Given the description of an element on the screen output the (x, y) to click on. 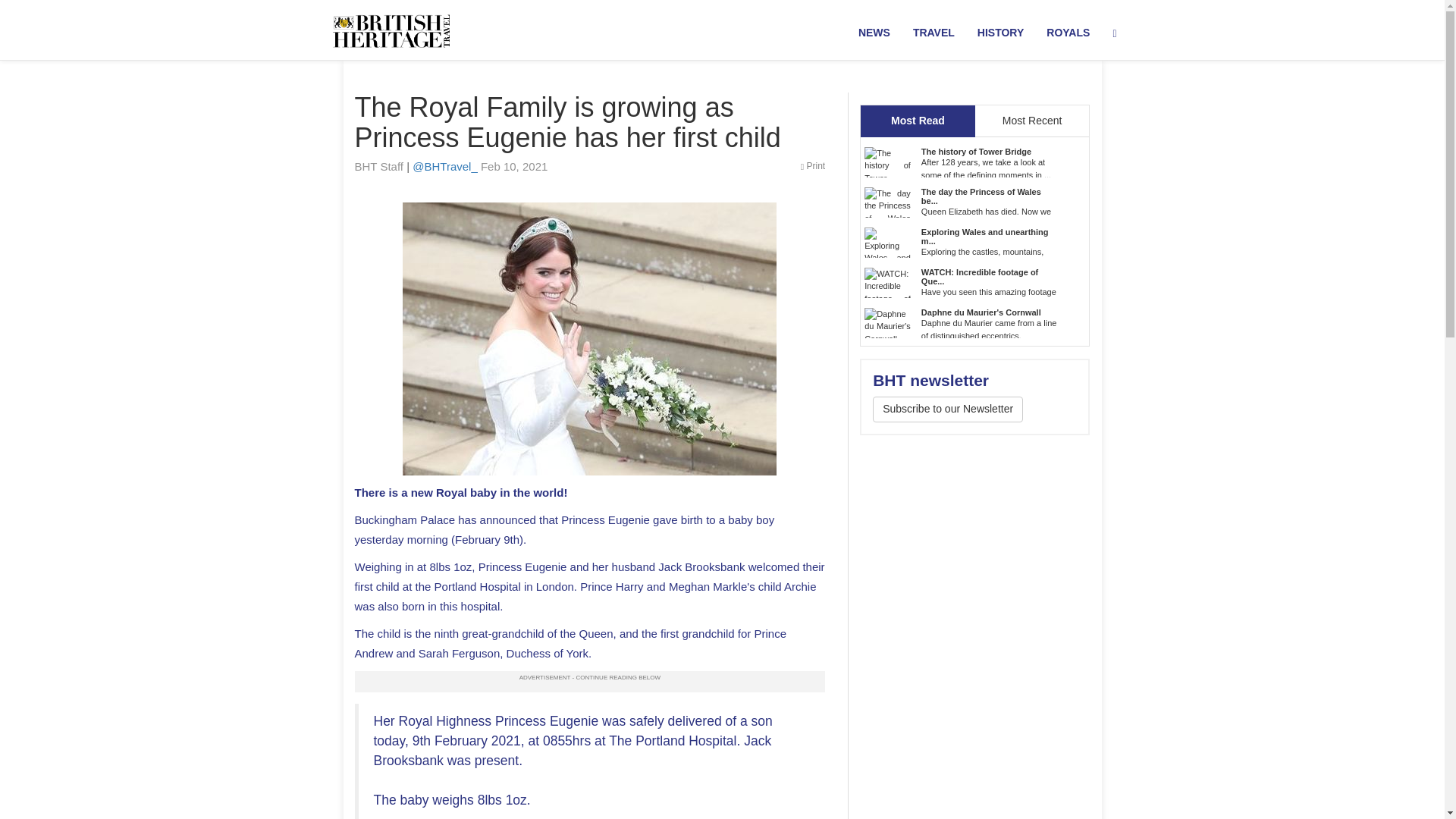
TRAVEL (933, 32)
Most Read (917, 121)
Most Recent (1032, 121)
HISTORY (1000, 32)
ROYALS (1067, 32)
NEWS (874, 32)
